Given the description of an element on the screen output the (x, y) to click on. 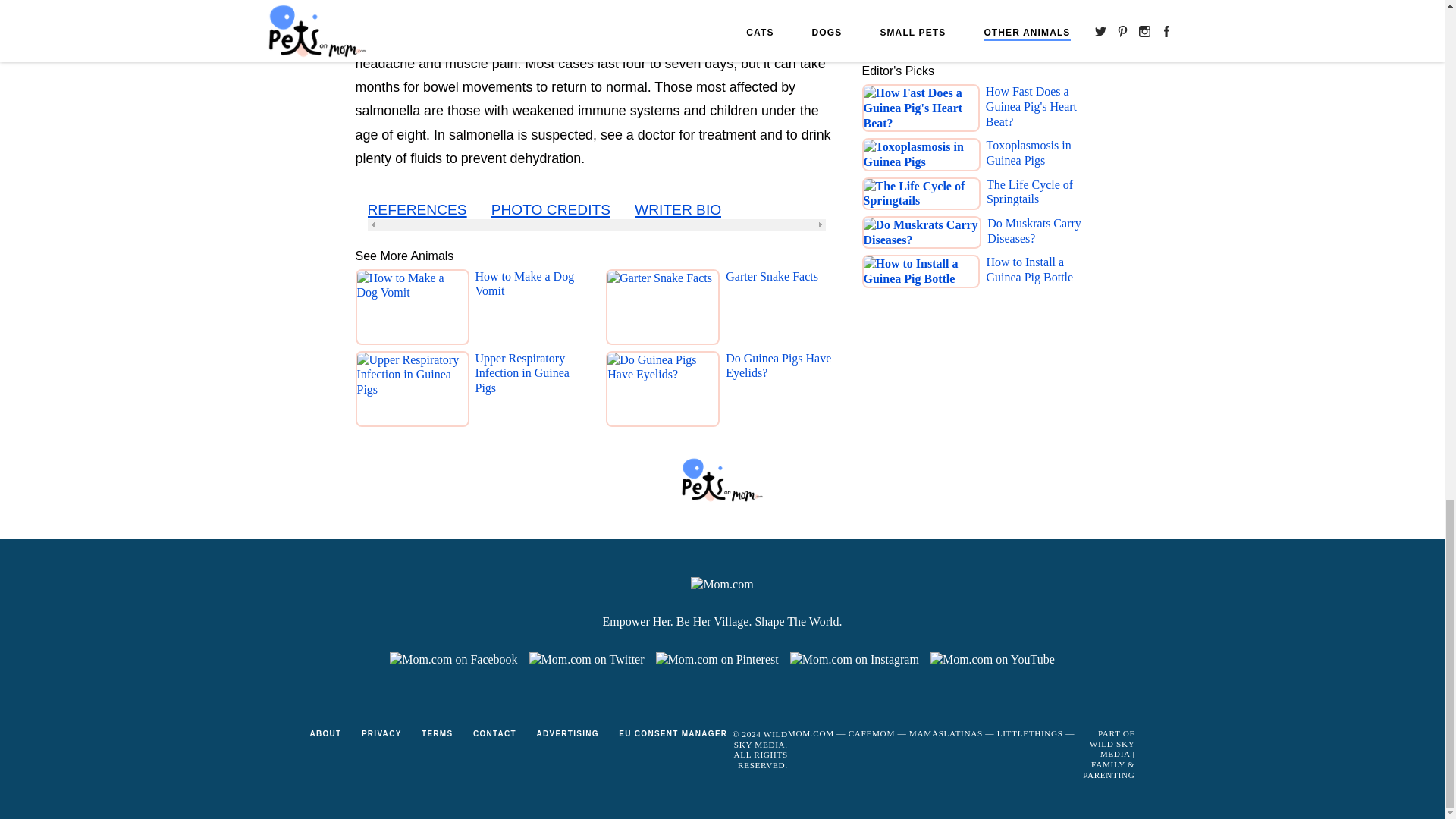
Upper Respiratory Infection in Guinea Pigs (530, 392)
Garter Snake Facts (771, 310)
Do Guinea Pigs Have Eyelids? (781, 392)
How to Make a Dog Vomit (530, 310)
